Given the description of an element on the screen output the (x, y) to click on. 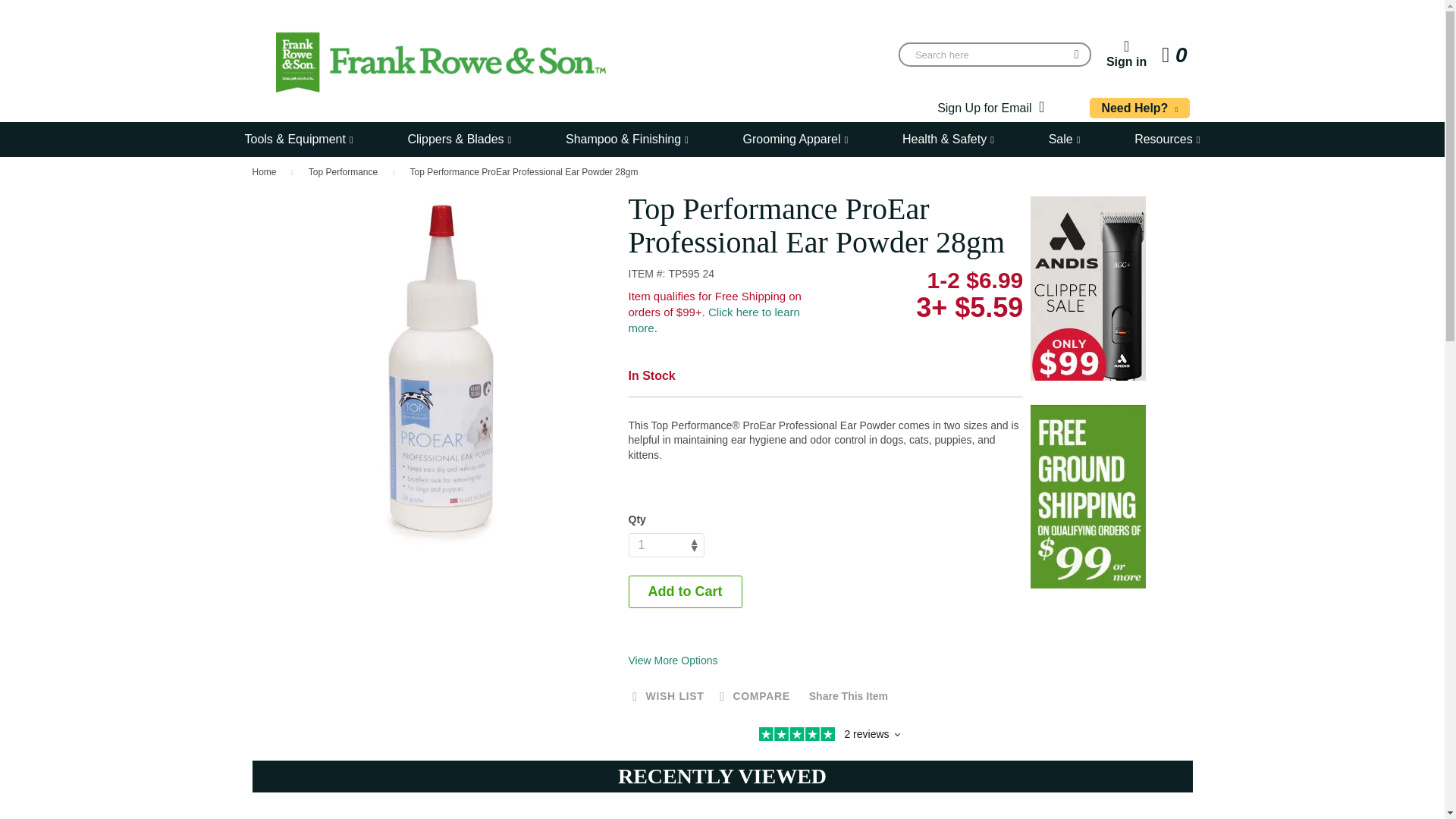
Sign Up for Email (990, 107)
Customer reviews powered by Trustpilot (824, 736)
1 (665, 545)
Sign in (1175, 55)
Add to Cart (1126, 54)
Need Help? (684, 591)
Qty (1139, 107)
Go to Home Page (665, 545)
